Given the description of an element on the screen output the (x, y) to click on. 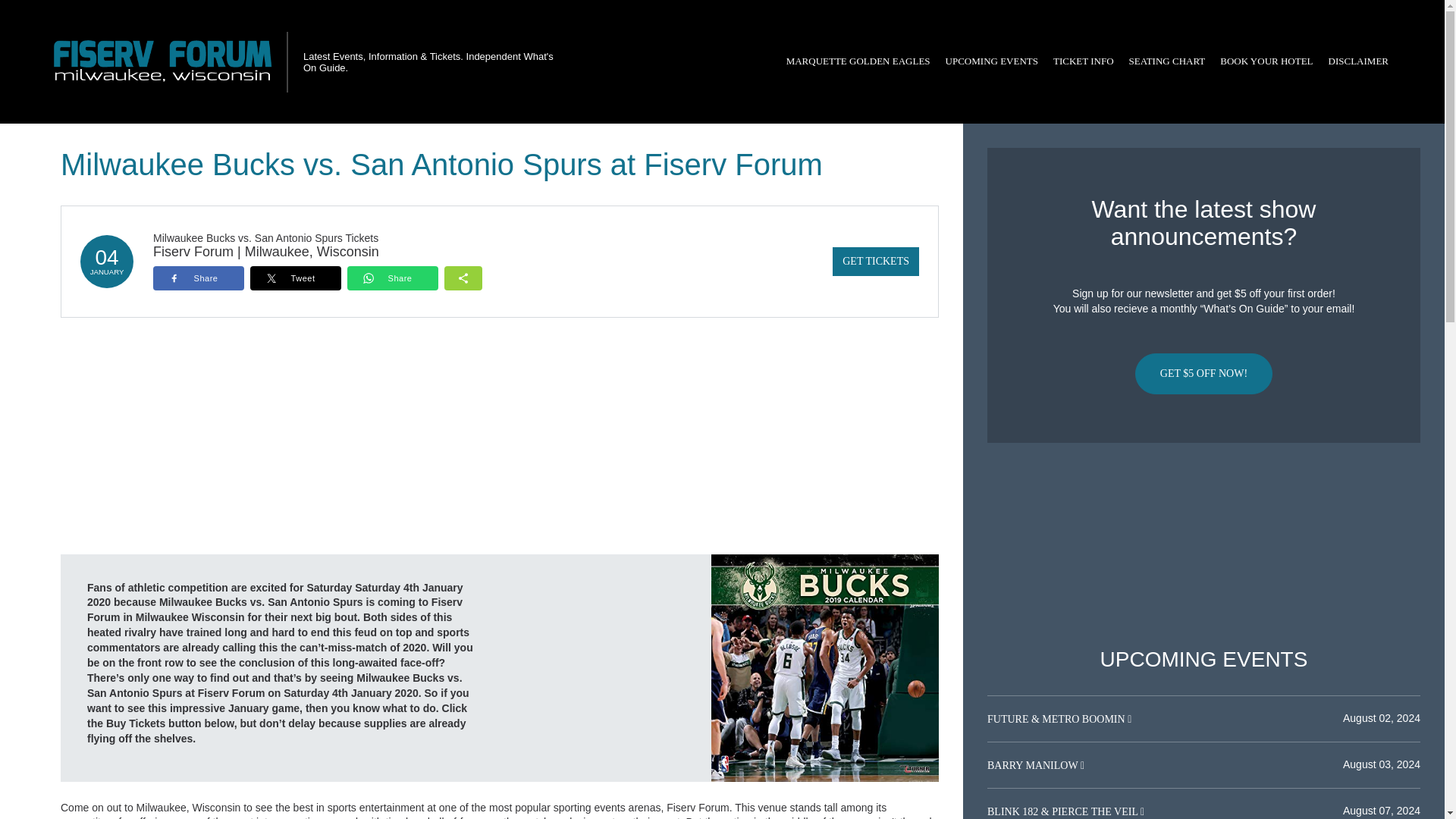
BOOK YOUR HOTEL (1266, 61)
Milwaukee Bucks vs. San Antonio Spurs Tickets (265, 237)
Advertisement (1204, 545)
TICKET INFO (1083, 61)
BARRY MANILOW (1033, 765)
SEATING CHART (1166, 61)
UPCOMING EVENTS (991, 61)
DISCLAIMER (1358, 61)
GET TICKETS (875, 261)
MARQUETTE GOLDEN EAGLES (857, 61)
Milwaukee Bucks vs. San Antonio Spurs at Fiserv Forum (825, 667)
